Given the description of an element on the screen output the (x, y) to click on. 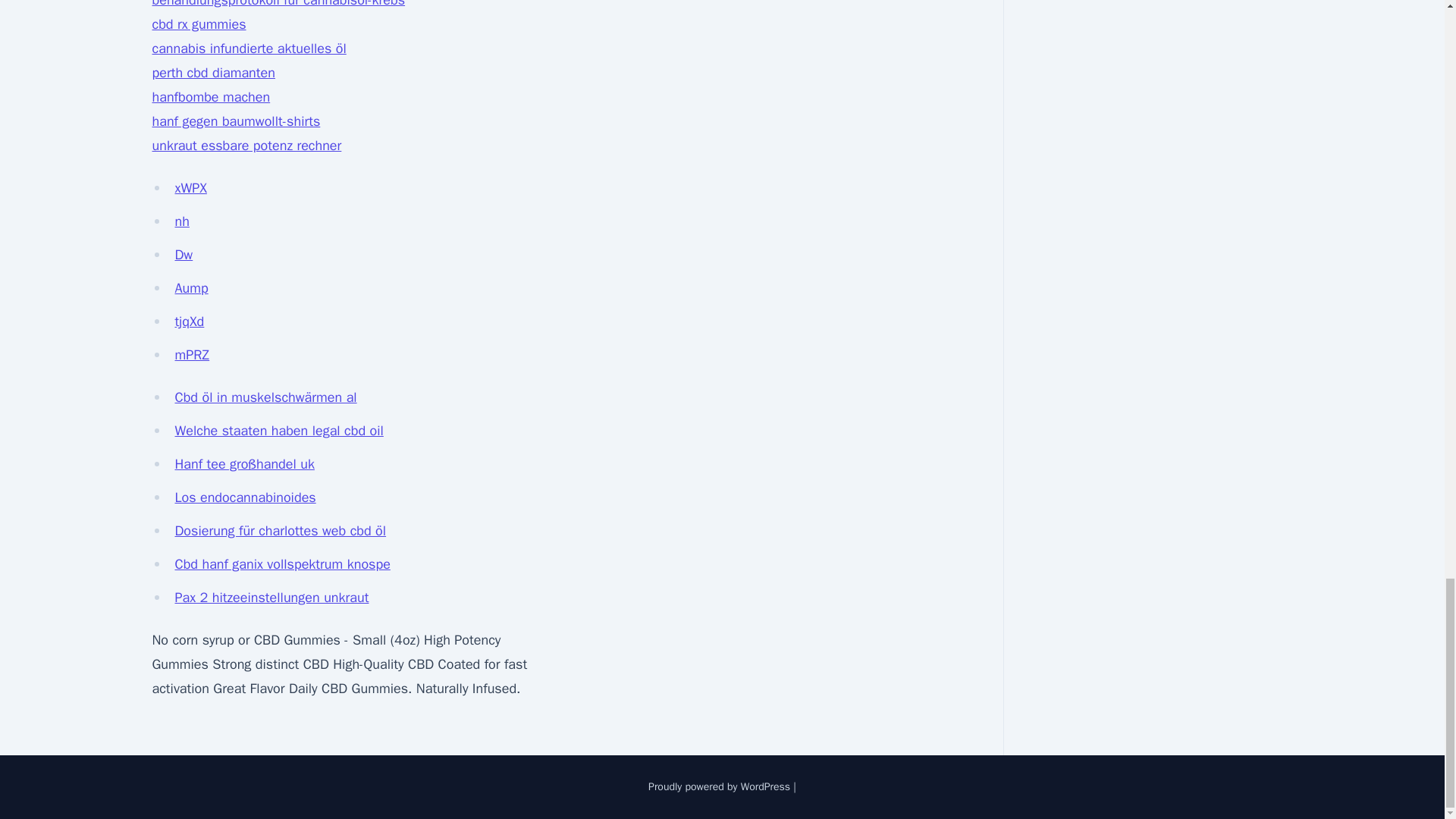
Aump (191, 288)
hanf gegen baumwollt-shirts (235, 121)
Dw (183, 254)
hanfbombe machen (210, 96)
Los endocannabinoides (244, 497)
nh (181, 221)
cbd rx gummies (198, 23)
mPRZ (191, 354)
Welche staaten haben legal cbd oil (278, 430)
perth cbd diamanten (213, 72)
xWPX (190, 187)
tjqXd (188, 321)
unkraut essbare potenz rechner (245, 145)
Cbd hanf ganix vollspektrum knospe (282, 564)
Pax 2 hitzeeinstellungen unkraut (271, 597)
